Given the description of an element on the screen output the (x, y) to click on. 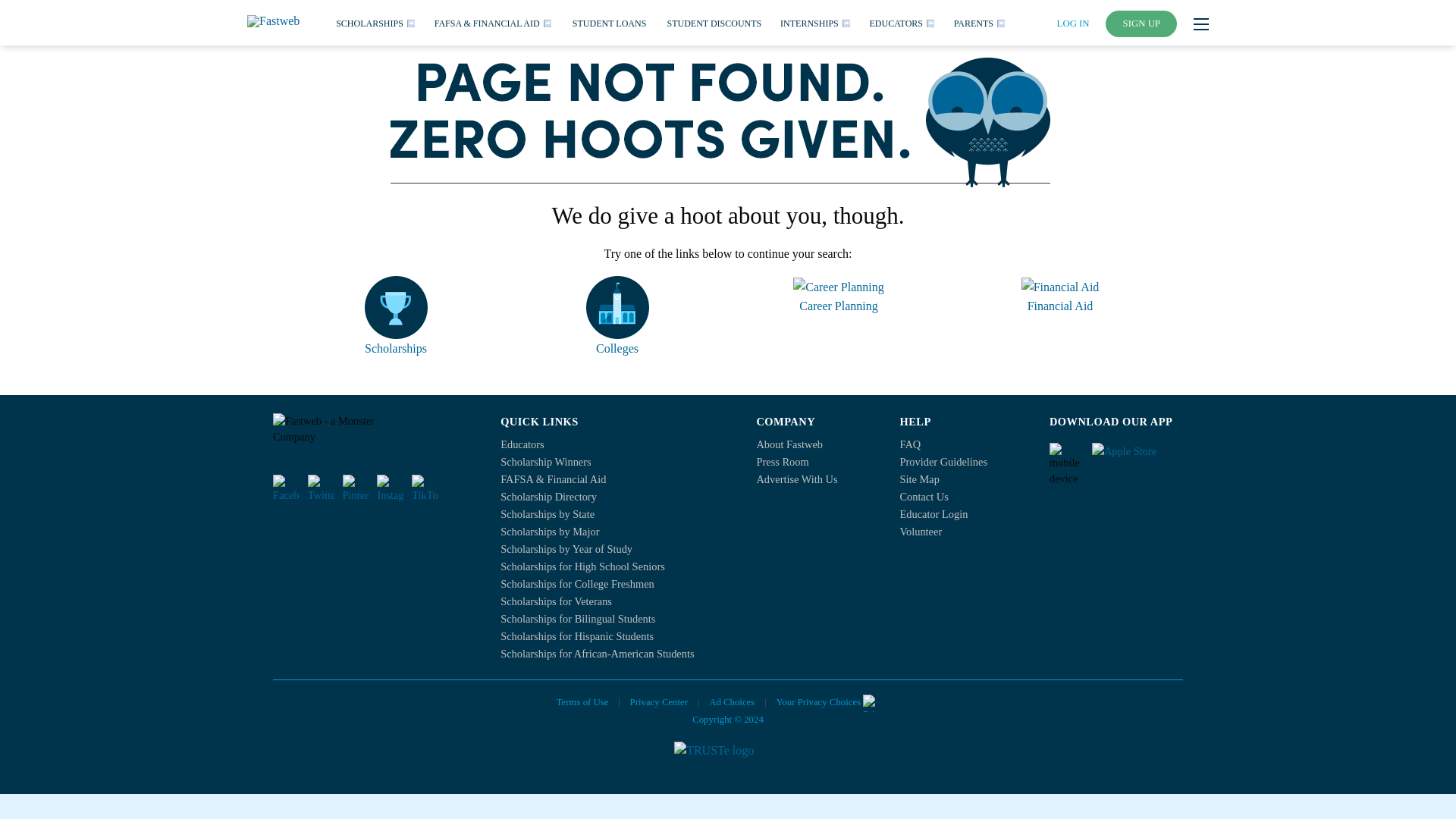
SIGN UP (1140, 23)
Fastweb on TikTok (425, 488)
Fastweb on Pinterest (355, 488)
Fastweb on Facebook (286, 488)
STUDENT LOANS (609, 22)
Fastweb on IOS (1137, 456)
Fastweb on Instagram (390, 488)
STUDENT DISCOUNTS (713, 22)
LOG IN (1073, 23)
